Given the description of an element on the screen output the (x, y) to click on. 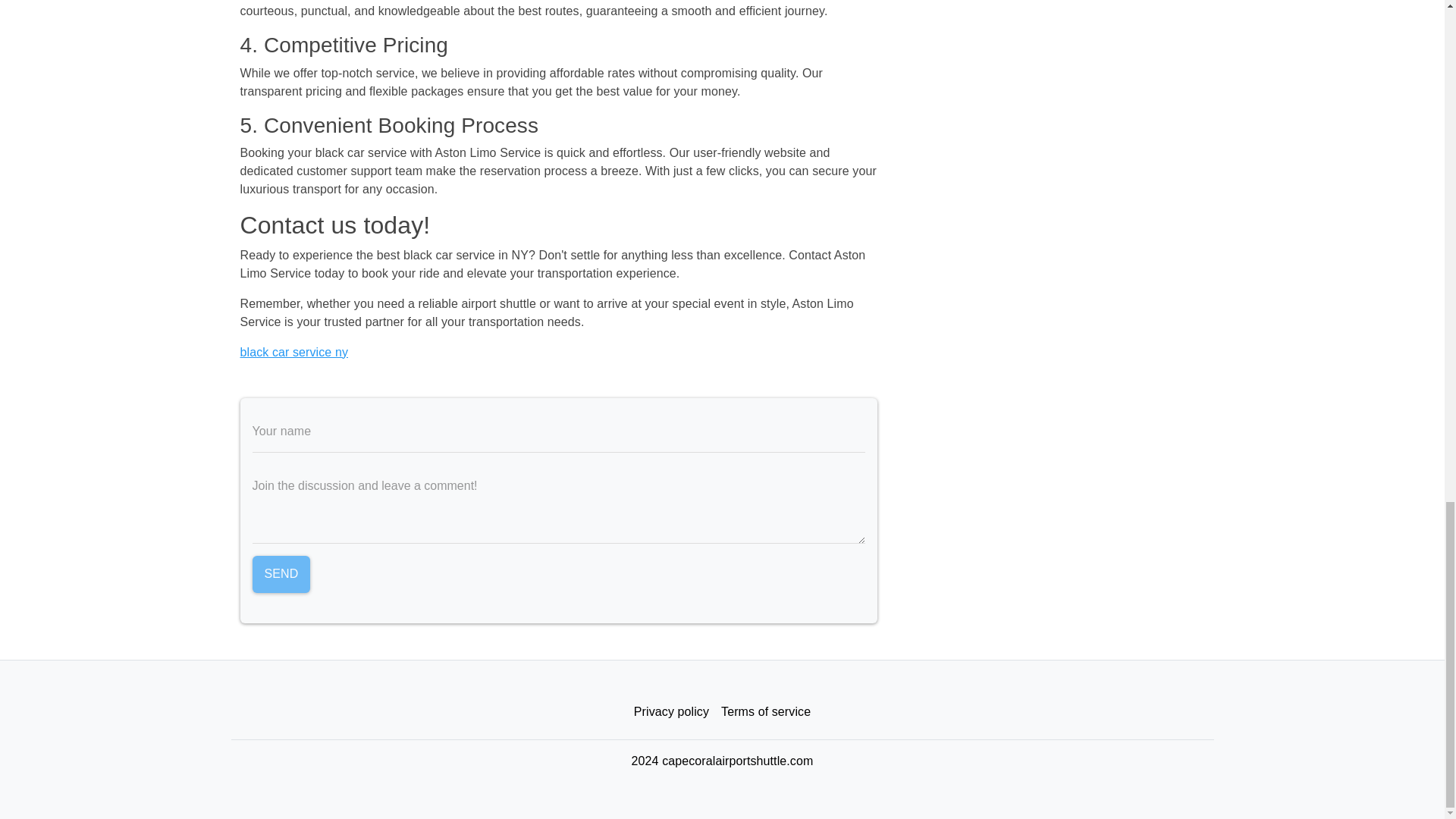
Privacy policy (670, 711)
Send (280, 574)
Terms of service (765, 711)
Send (280, 574)
black car service ny (293, 351)
